Given the description of an element on the screen output the (x, y) to click on. 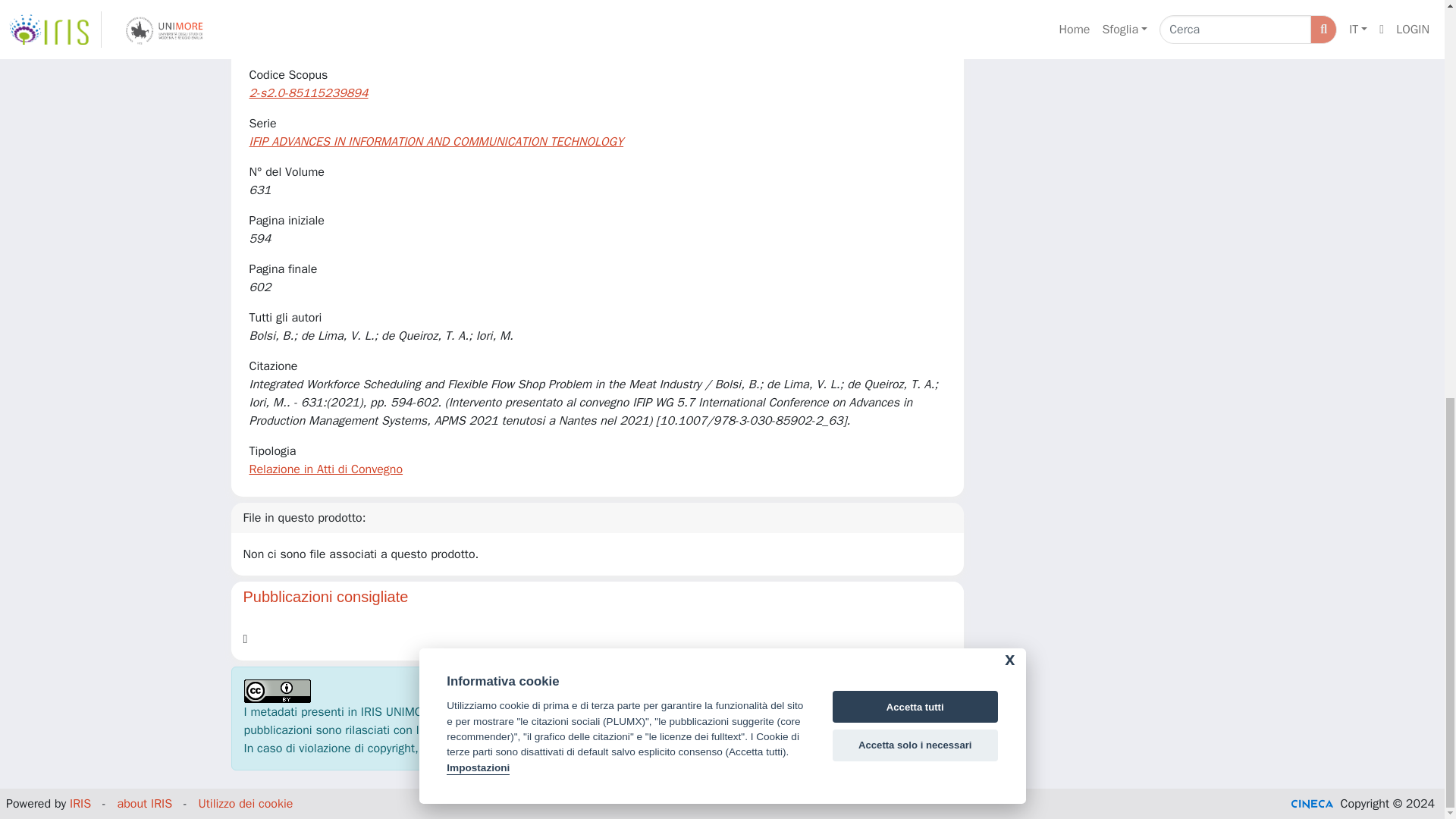
Impostazioni (477, 1)
